Given the description of an element on the screen output the (x, y) to click on. 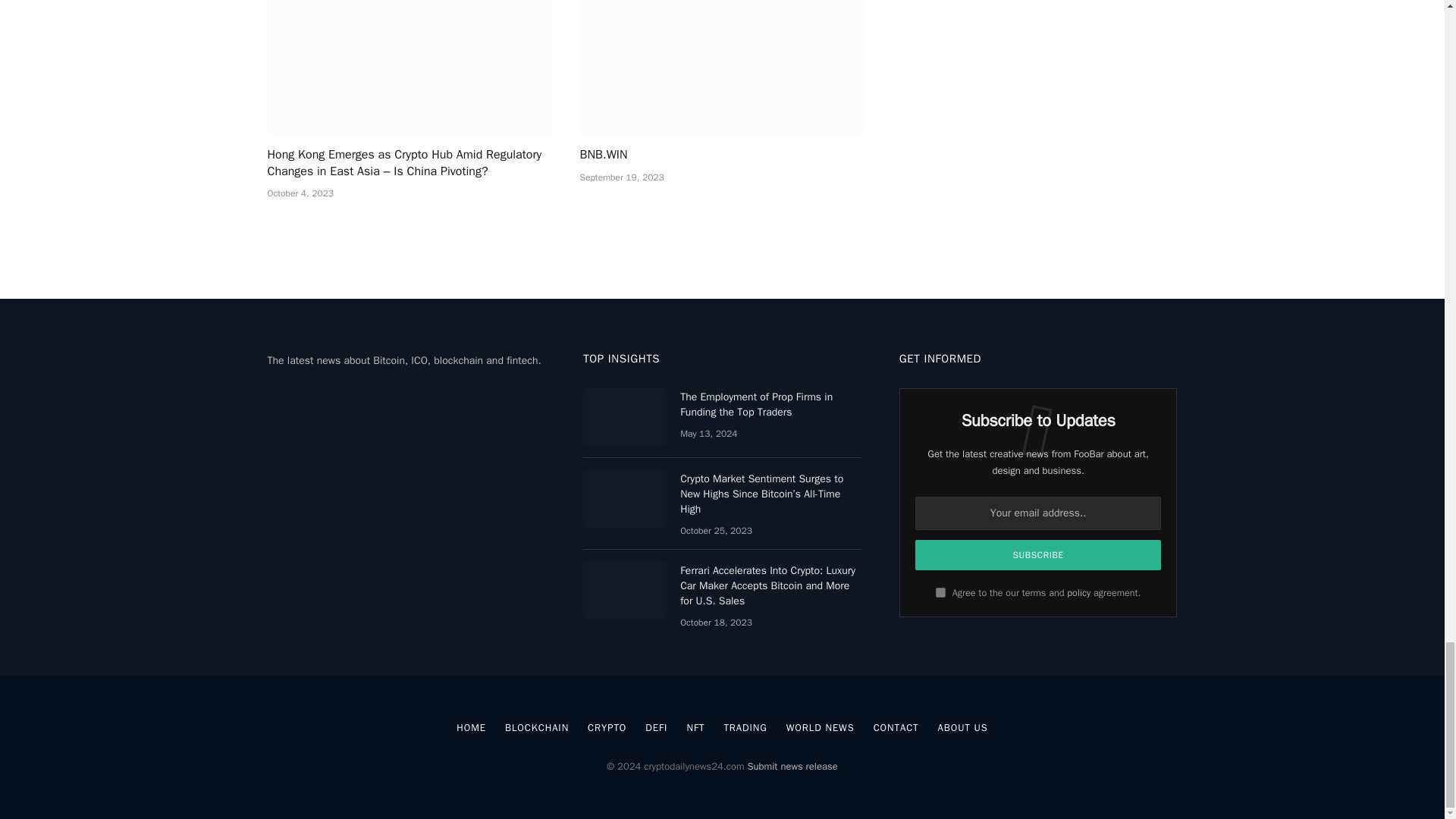
on (940, 592)
Subscribe (1038, 553)
